Given the description of an element on the screen output the (x, y) to click on. 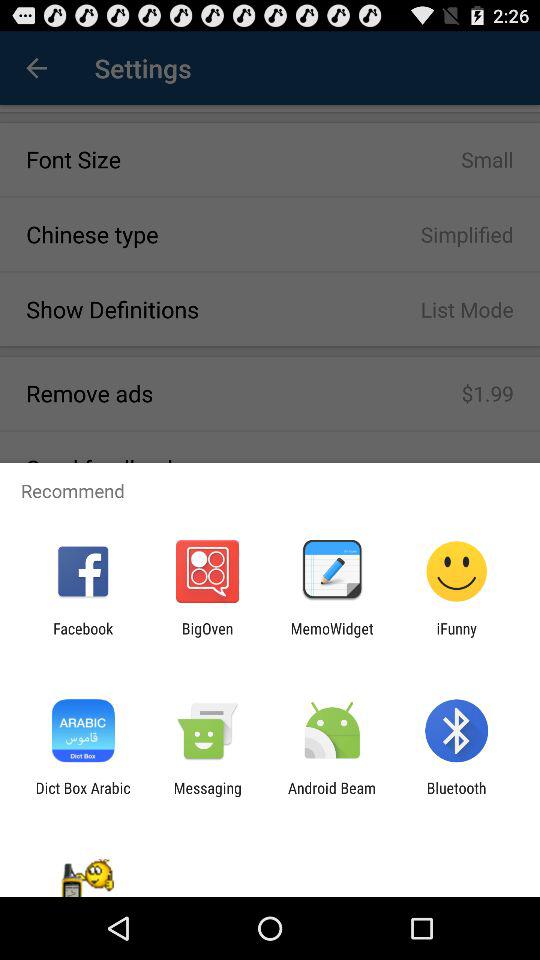
turn off the messaging icon (207, 796)
